Given the description of an element on the screen output the (x, y) to click on. 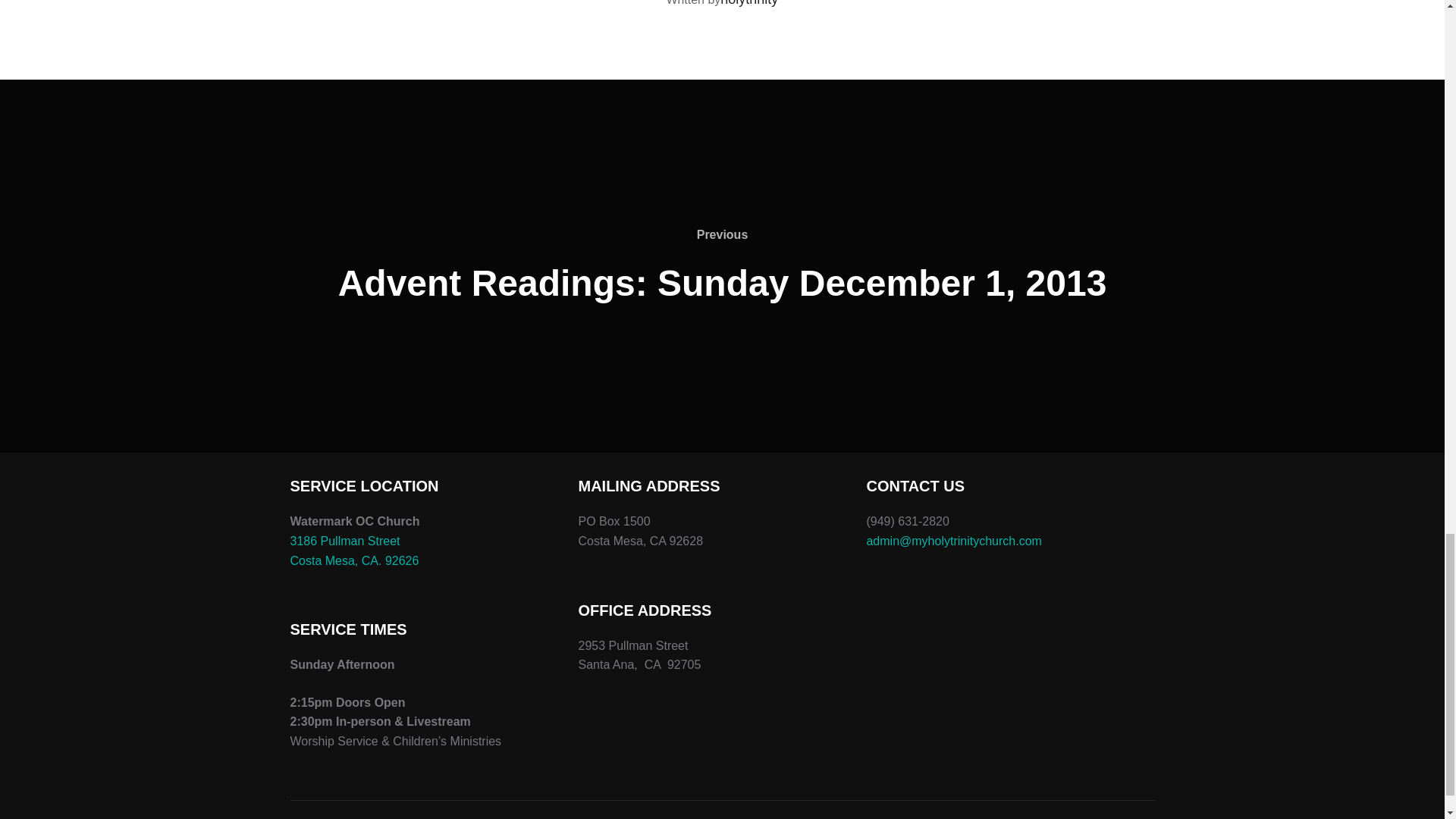
Posts by holytrinity (748, 3)
